Given the description of an element on the screen output the (x, y) to click on. 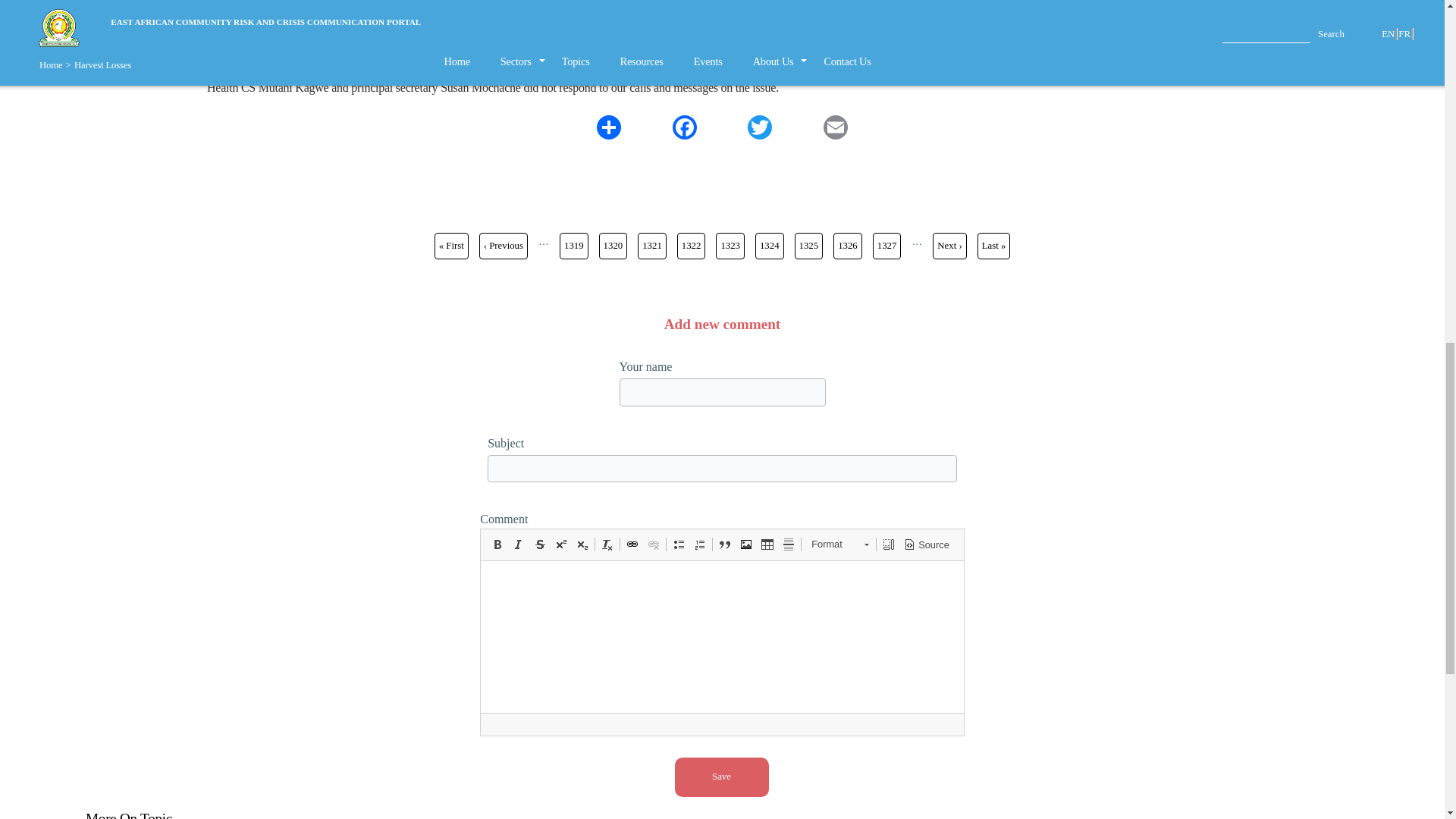
Facebook (684, 126)
Go to page 1319 (573, 245)
Go to first page (450, 245)
Save (721, 776)
Go to previous page (503, 245)
Twitter (759, 126)
Email (835, 126)
